Given the description of an element on the screen output the (x, y) to click on. 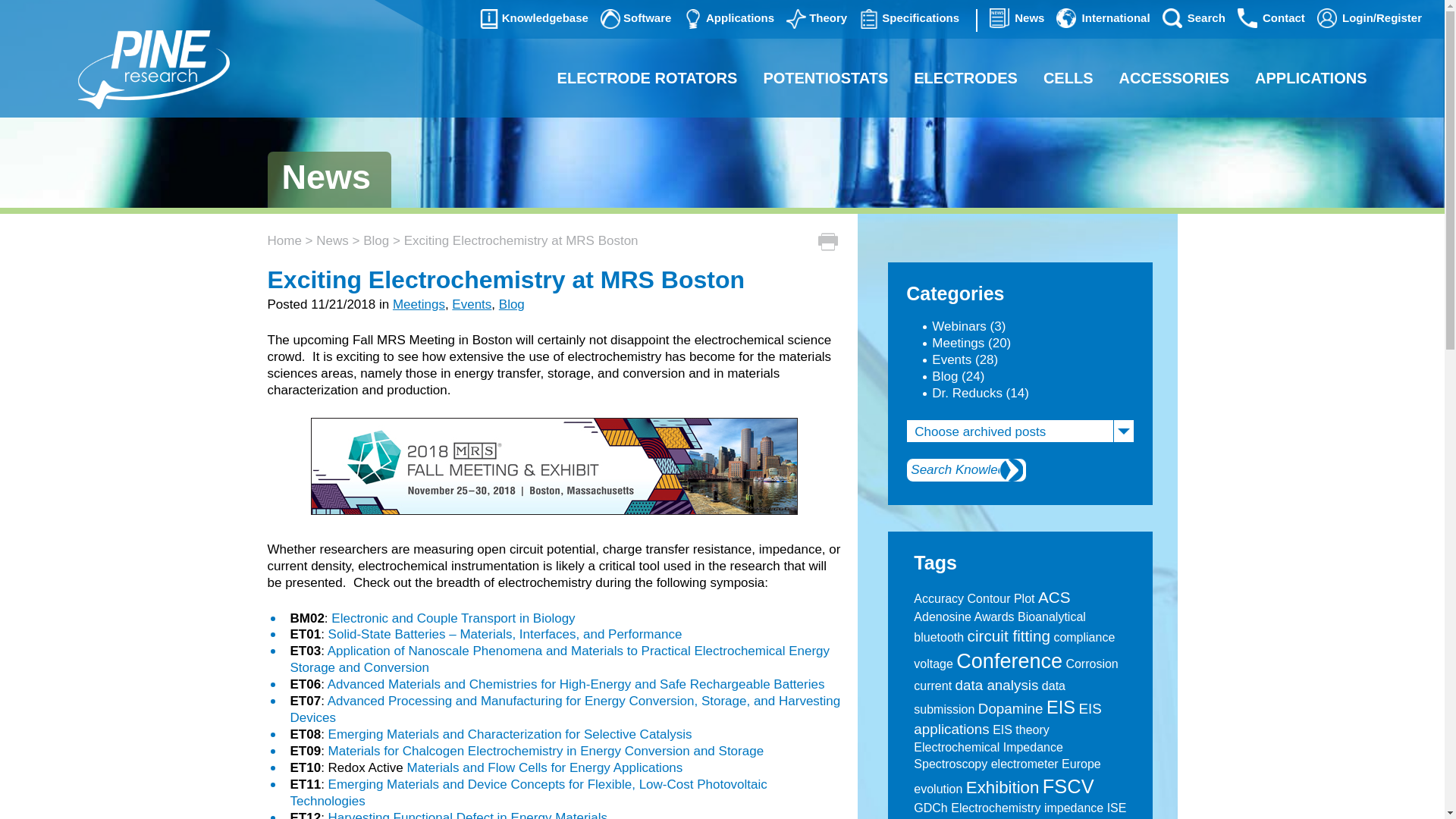
Theory (816, 17)
ELECTRODES (965, 77)
News (1016, 17)
POTENTIOSTATS (825, 77)
ELECTRODE ROTATORS (647, 77)
Contact (1270, 17)
Pine Research (152, 71)
Specifications (909, 17)
International (1103, 17)
Search (1011, 469)
Knowledgebase (533, 17)
Applications (728, 17)
Search (1193, 17)
Search (1011, 469)
Software (635, 17)
